Given the description of an element on the screen output the (x, y) to click on. 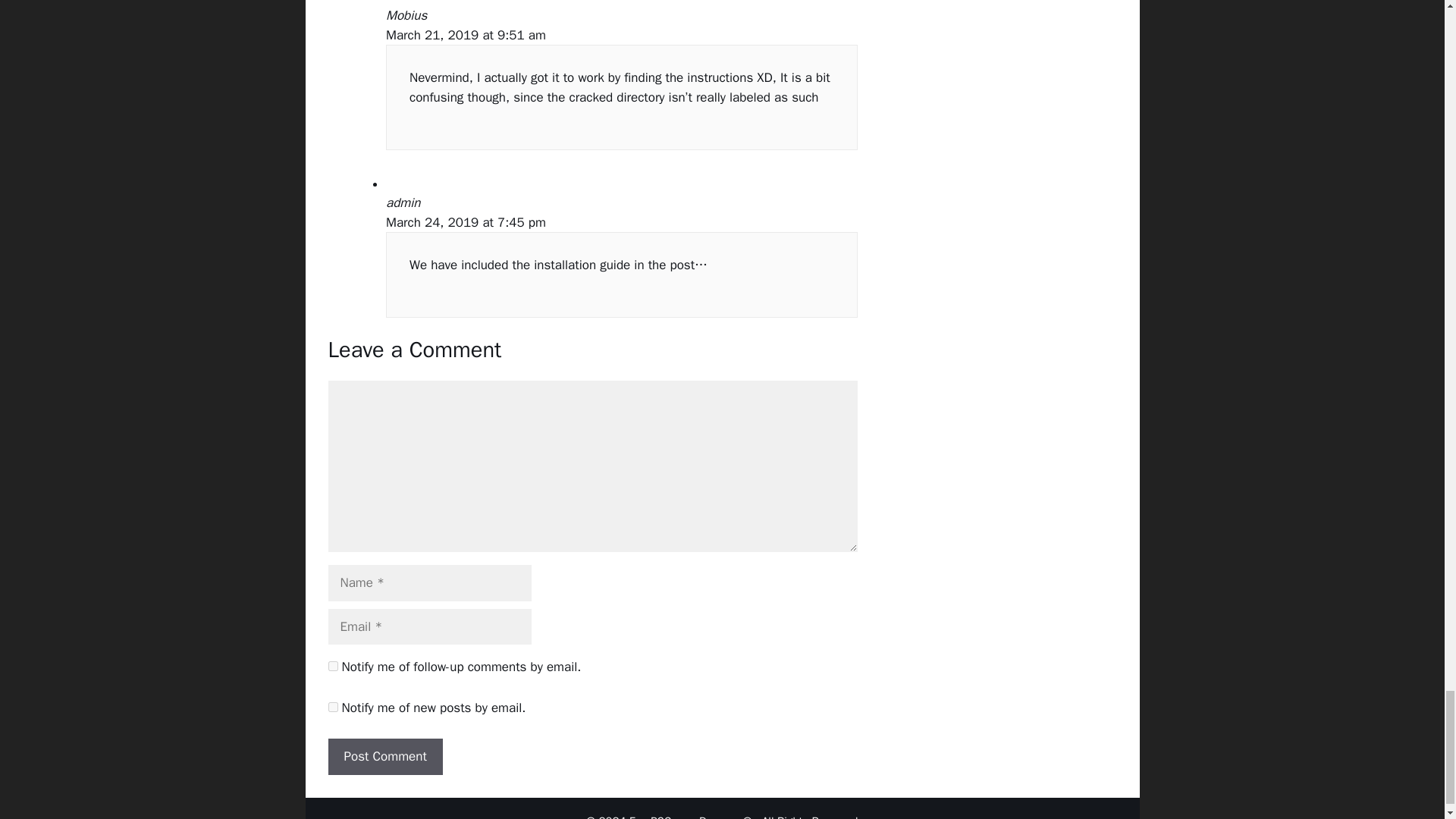
Post Comment (384, 756)
March 21, 2019 at 9:51 am (465, 35)
Post Comment (384, 756)
subscribe (332, 665)
March 24, 2019 at 7:45 pm (465, 222)
subscribe (332, 706)
